Given the description of an element on the screen output the (x, y) to click on. 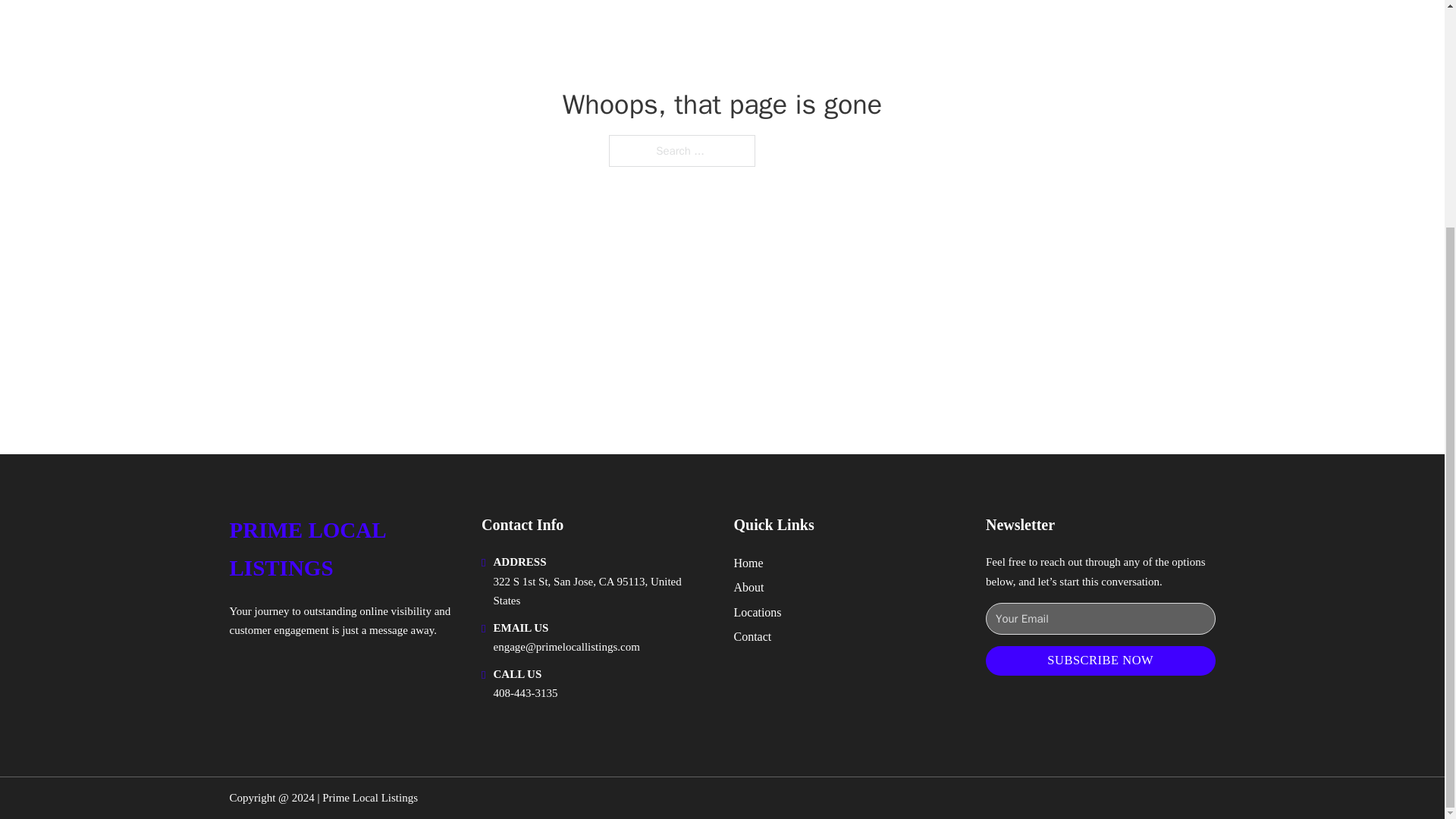
Locations (757, 611)
408-443-3135 (525, 693)
Contact (752, 636)
About (748, 587)
Home (747, 562)
SUBSCRIBE NOW (1100, 660)
PRIME LOCAL LISTINGS (343, 549)
